Given the description of an element on the screen output the (x, y) to click on. 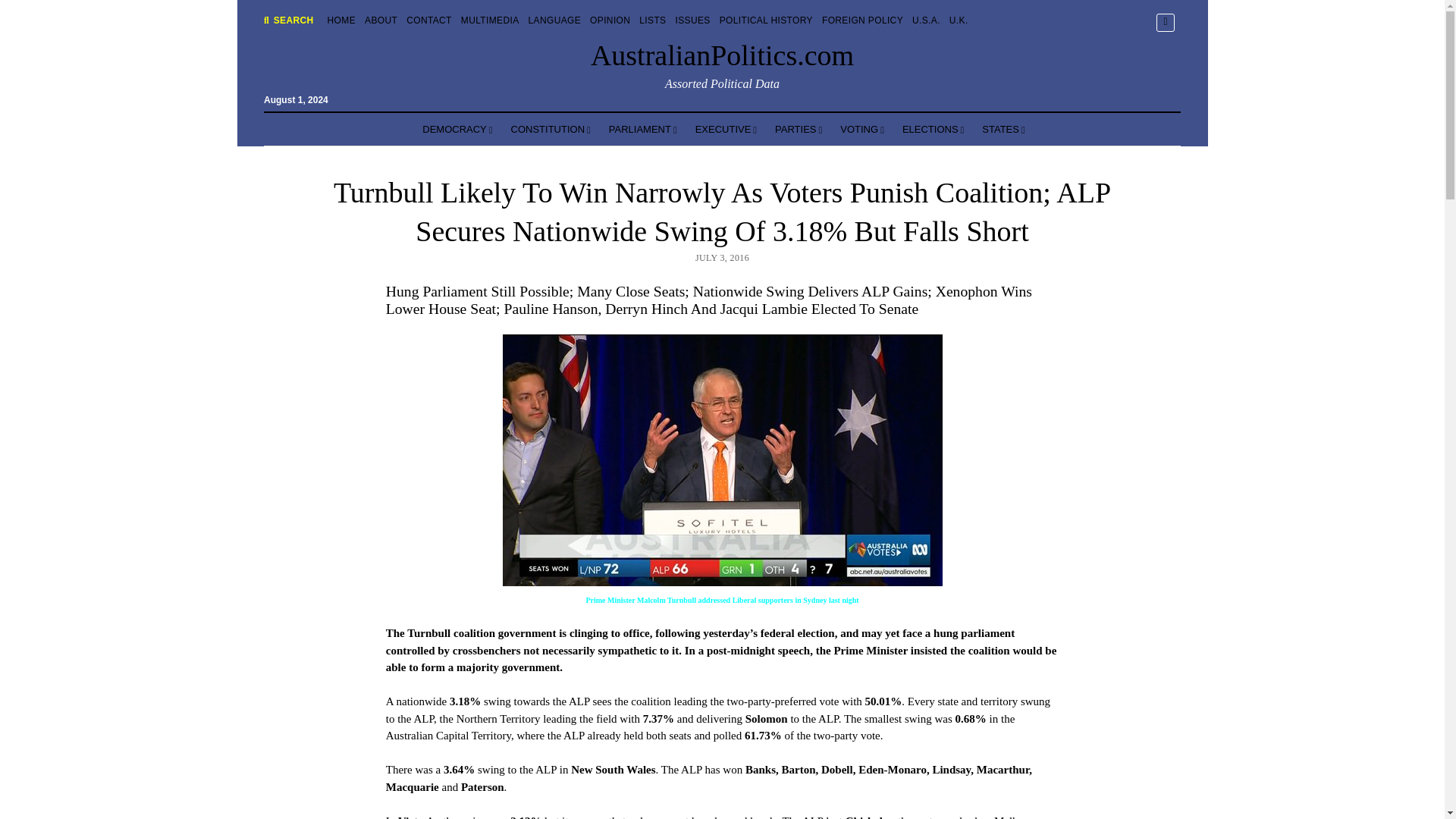
DEMOCRACY (456, 129)
SEARCH (288, 20)
POLITICAL HISTORY (765, 20)
HOME (341, 20)
MULTIMEDIA (490, 20)
LISTS (652, 20)
Search (945, 129)
PARLIAMENT (642, 129)
U.K. (958, 20)
AustralianPolitics.com (722, 55)
CONSTITUTION (550, 129)
CONTACT (428, 20)
U.S.A. (926, 20)
FOREIGN POLICY (862, 20)
LANGUAGE (554, 20)
